Given the description of an element on the screen output the (x, y) to click on. 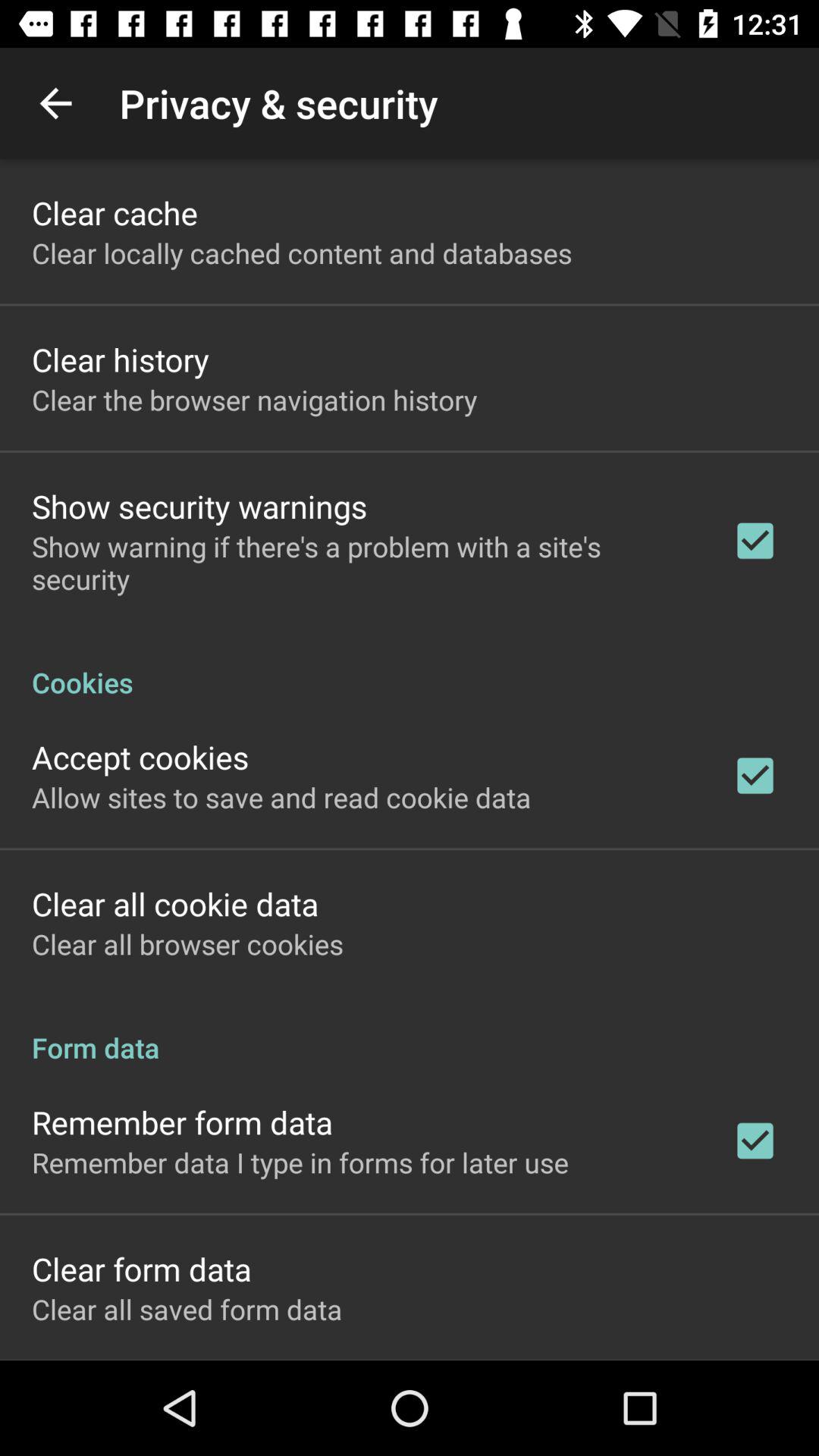
launch the icon above the cookies app (361, 562)
